Given the description of an element on the screen output the (x, y) to click on. 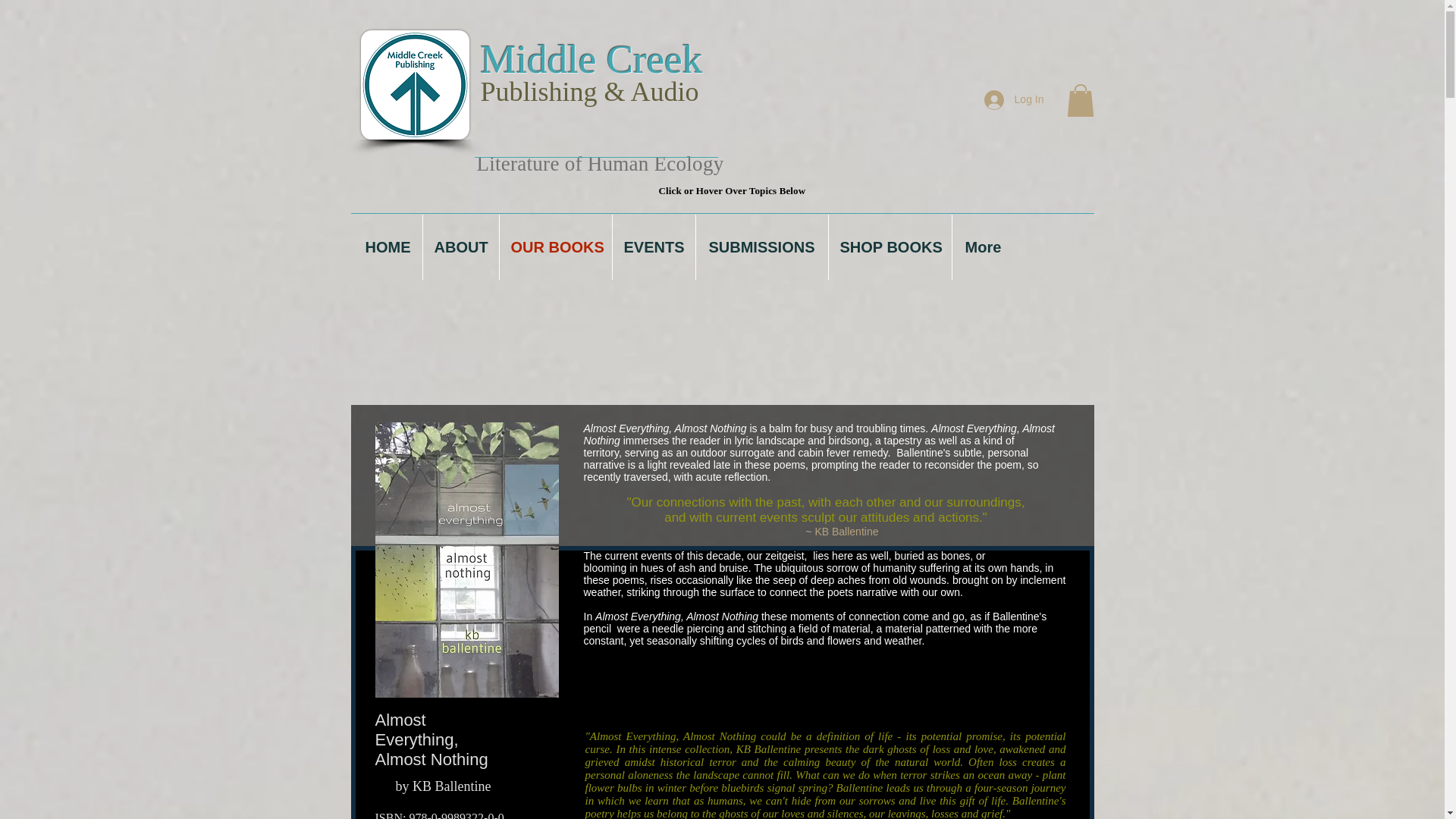
Log In (1014, 99)
HOME (387, 247)
OUR BOOKS (555, 247)
ABOUT (461, 247)
